Given the description of an element on the screen output the (x, y) to click on. 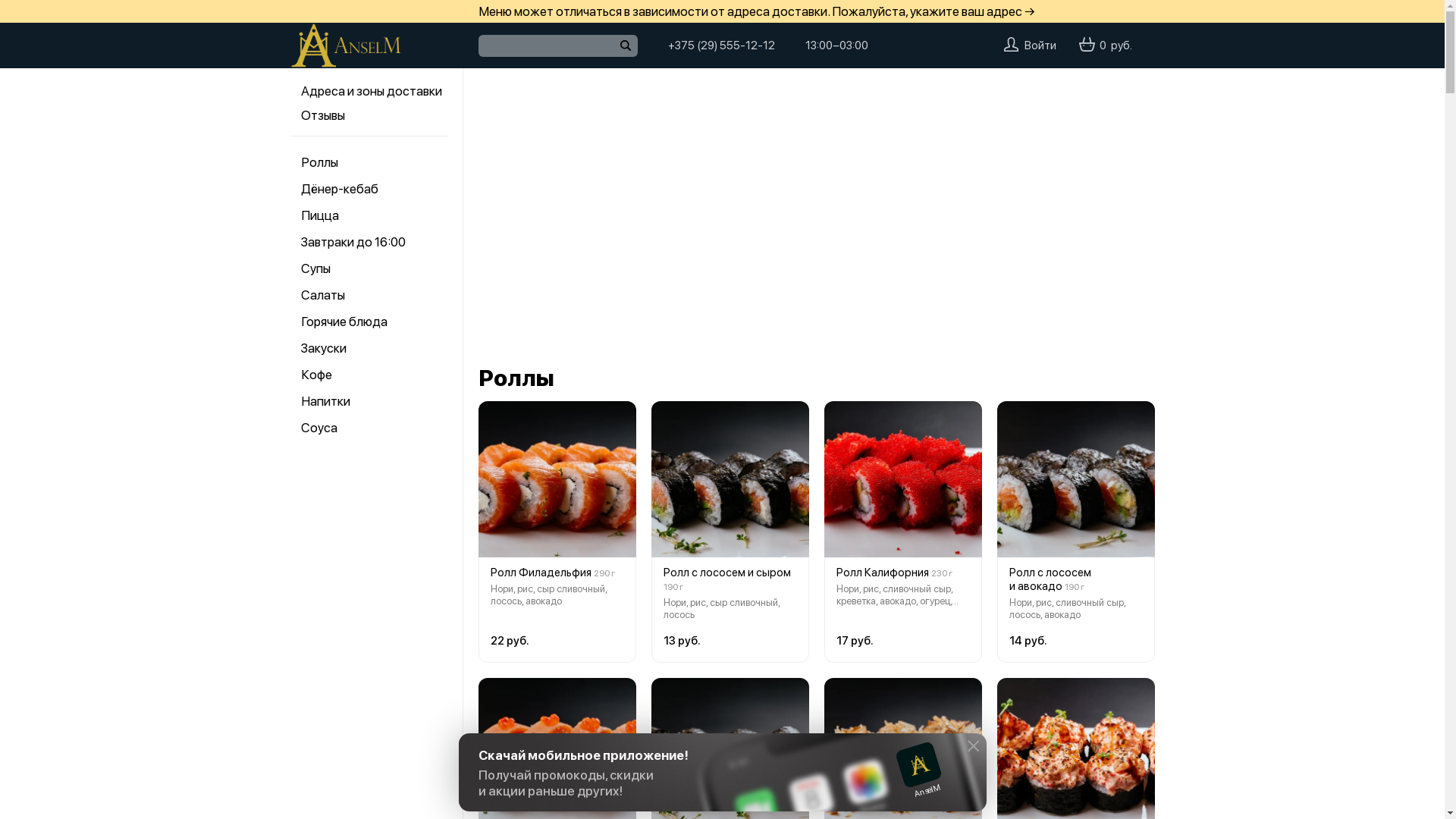
+375 (29) 555-12-12 Element type: text (720, 45)
